Given the description of an element on the screen output the (x, y) to click on. 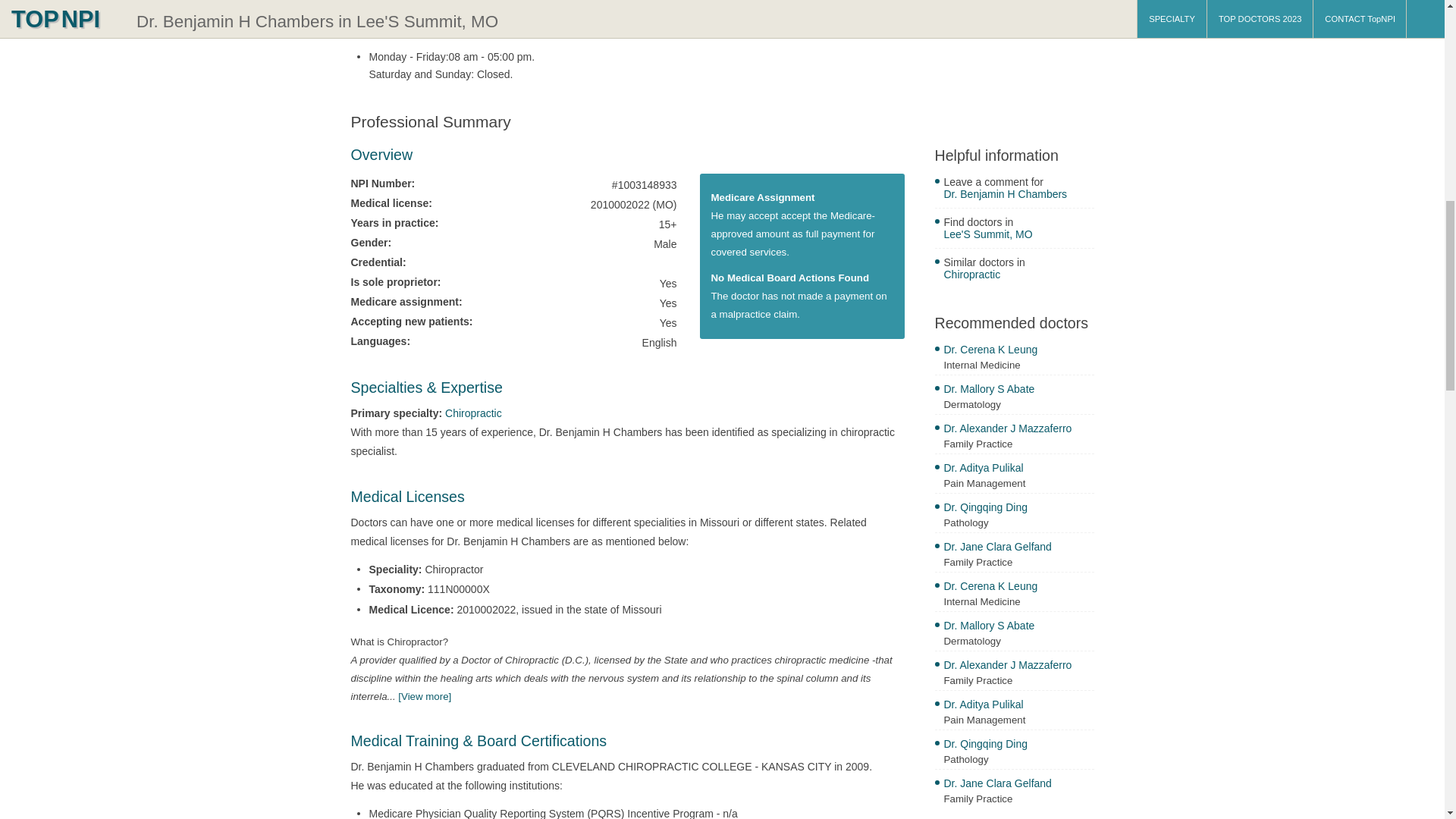
Chiropractic (473, 413)
Chiropractic (473, 413)
Dr. Jane Clara Gelfand (1018, 548)
Dr. Mallory S Abate (1018, 627)
Dr. Alexander J Mazzaferro (1018, 430)
Dr. Aditya Pulikal (1018, 706)
Dr. Mallory S Abate (1018, 390)
Dr. Benjamin H Chambers (1018, 195)
Dr. Qingqing Ding (1018, 508)
Chiropractic (1018, 276)
Dr. Qingqing Ding (1018, 745)
Lee'S Summit, MO (1018, 236)
Dr. Aditya Pulikal (1018, 469)
Dr. Cerena K Leung (1018, 587)
Dr. Cerena K Leung (1018, 351)
